Given the description of an element on the screen output the (x, y) to click on. 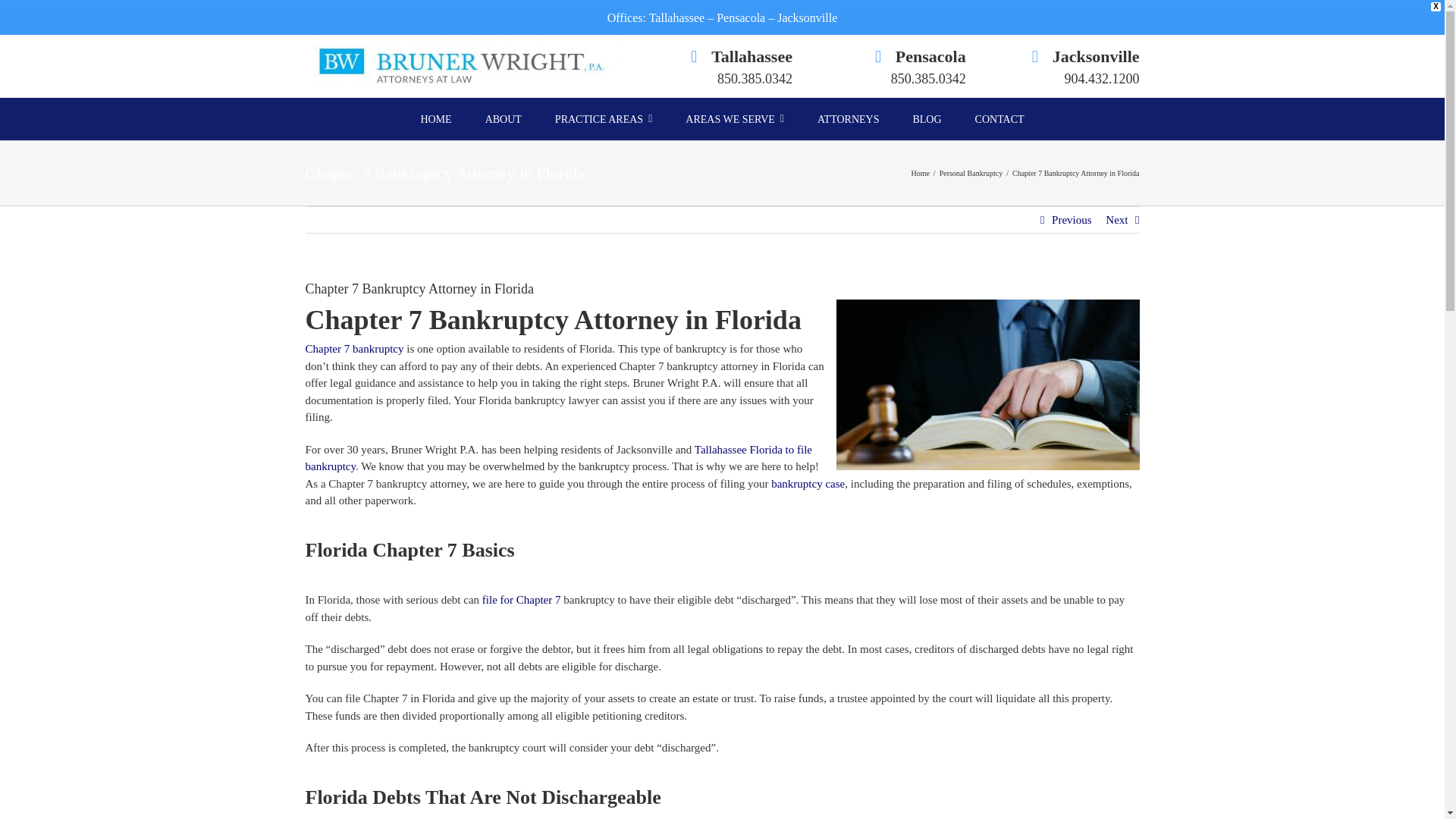
HOME (435, 119)
Tallahassee (751, 58)
850.385.0342 (754, 78)
BLOG (926, 119)
CONTACT (999, 119)
Pensacola (930, 58)
AREAS WE SERVE (734, 119)
PRACTICE AREAS (603, 119)
ATTORNEYS (847, 119)
Jacksonville (1096, 58)
850.385.0342 (928, 78)
ABOUT (503, 119)
904.432.1200 (1102, 78)
